Given the description of an element on the screen output the (x, y) to click on. 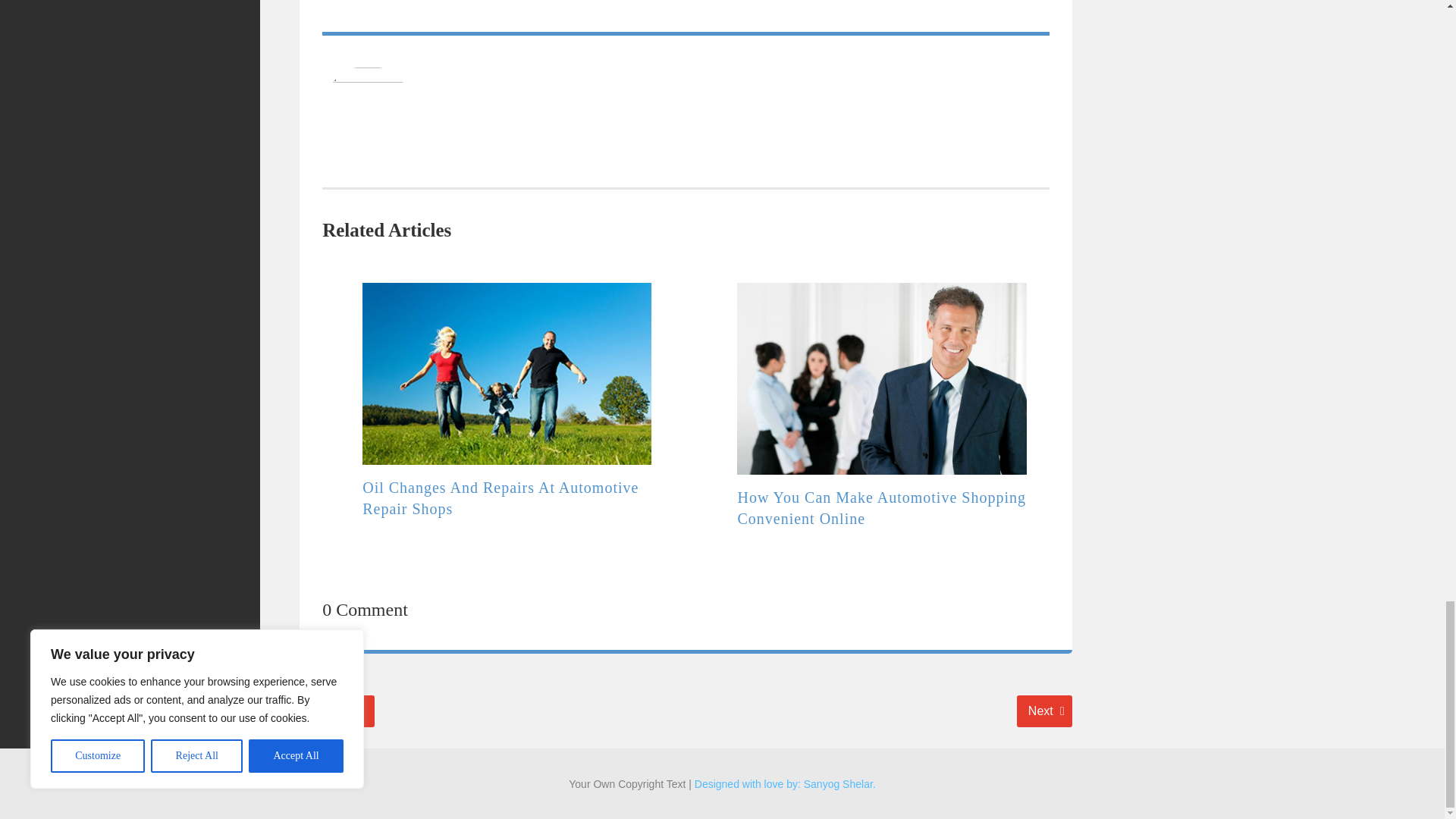
Oil Changes And Repairs At Automotive Repair Shops (500, 497)
How You Can Make Automotive Shopping Convenient Online (880, 507)
